Given the description of an element on the screen output the (x, y) to click on. 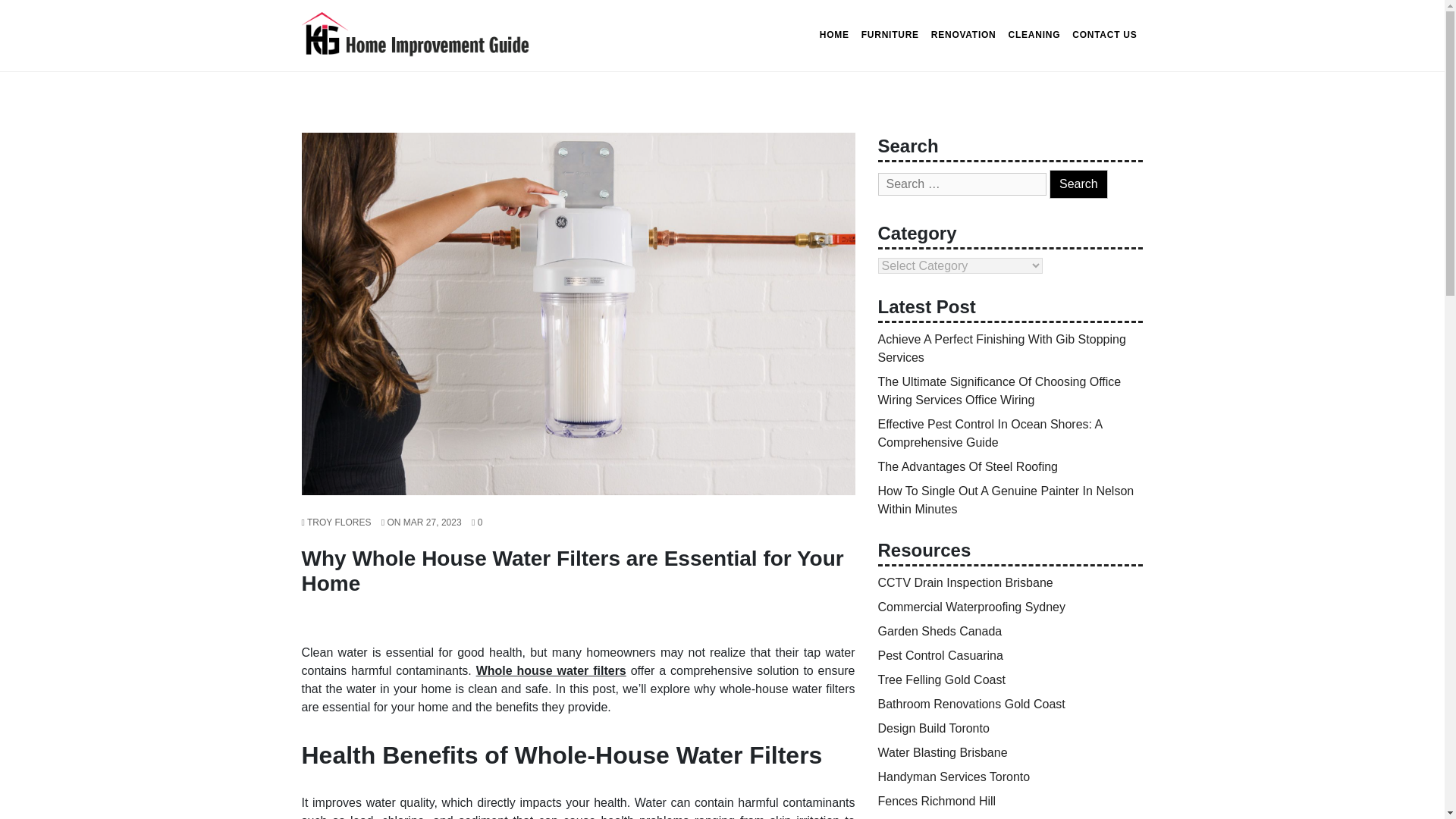
Achieve A Perfect Finishing With Gib Stopping Services (1001, 347)
HOME (834, 34)
CONTACT US (1103, 34)
Search (1078, 184)
Search (1078, 184)
Tree Felling Gold Coast (941, 679)
The Advantages Of Steel Roofing (967, 466)
Whole house water filters (551, 670)
Commercial Waterproofing Sydney (971, 606)
Fences Richmond Hill (936, 800)
Handyman Services Toronto (953, 776)
Pest Control Casuarina (940, 655)
Garden Sheds Canada (940, 631)
